Given the description of an element on the screen output the (x, y) to click on. 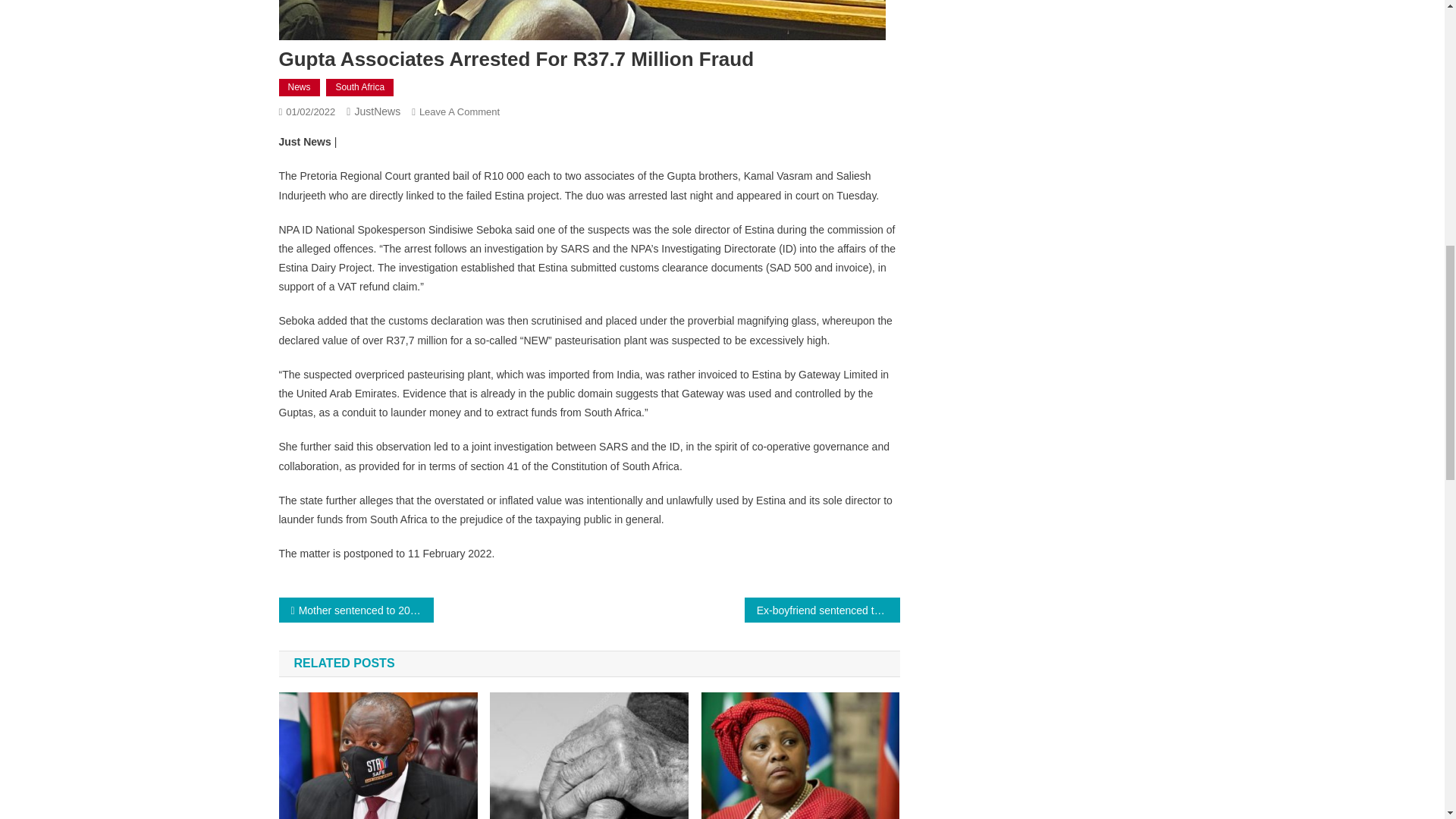
News (299, 87)
Ex-boyfriend sentenced to 20 years for attempted murder (821, 609)
South Africa (359, 87)
JustNews (376, 111)
